Given the description of an element on the screen output the (x, y) to click on. 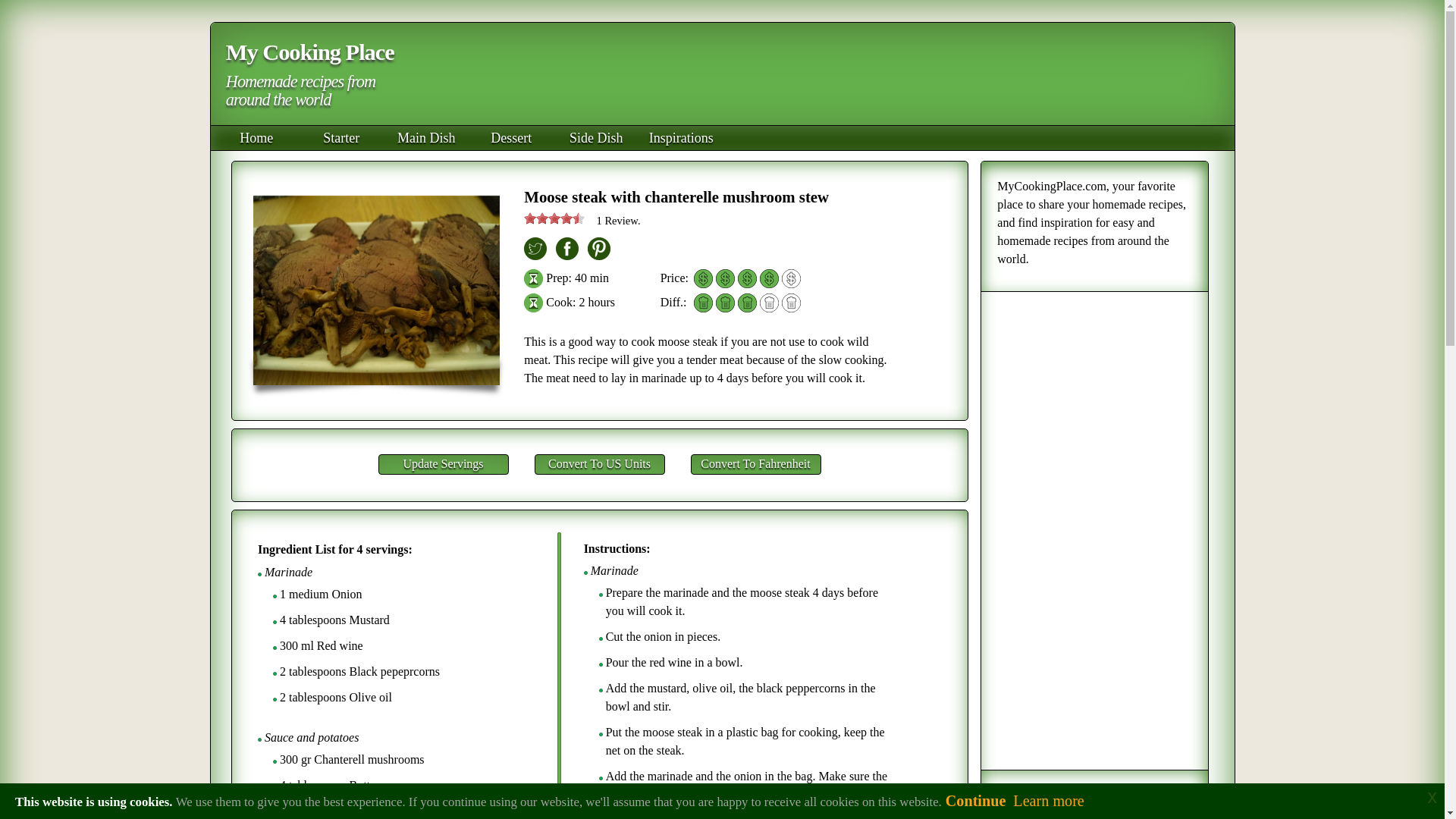
Starter (340, 137)
Home (256, 137)
Side Dish (595, 137)
Convert To US Units (598, 464)
Advertisement (803, 75)
Main Dish (426, 137)
Dessert (510, 137)
Convert To Fahrenheit (755, 464)
Inspirations (681, 137)
Update Servings (442, 464)
